Given the description of an element on the screen output the (x, y) to click on. 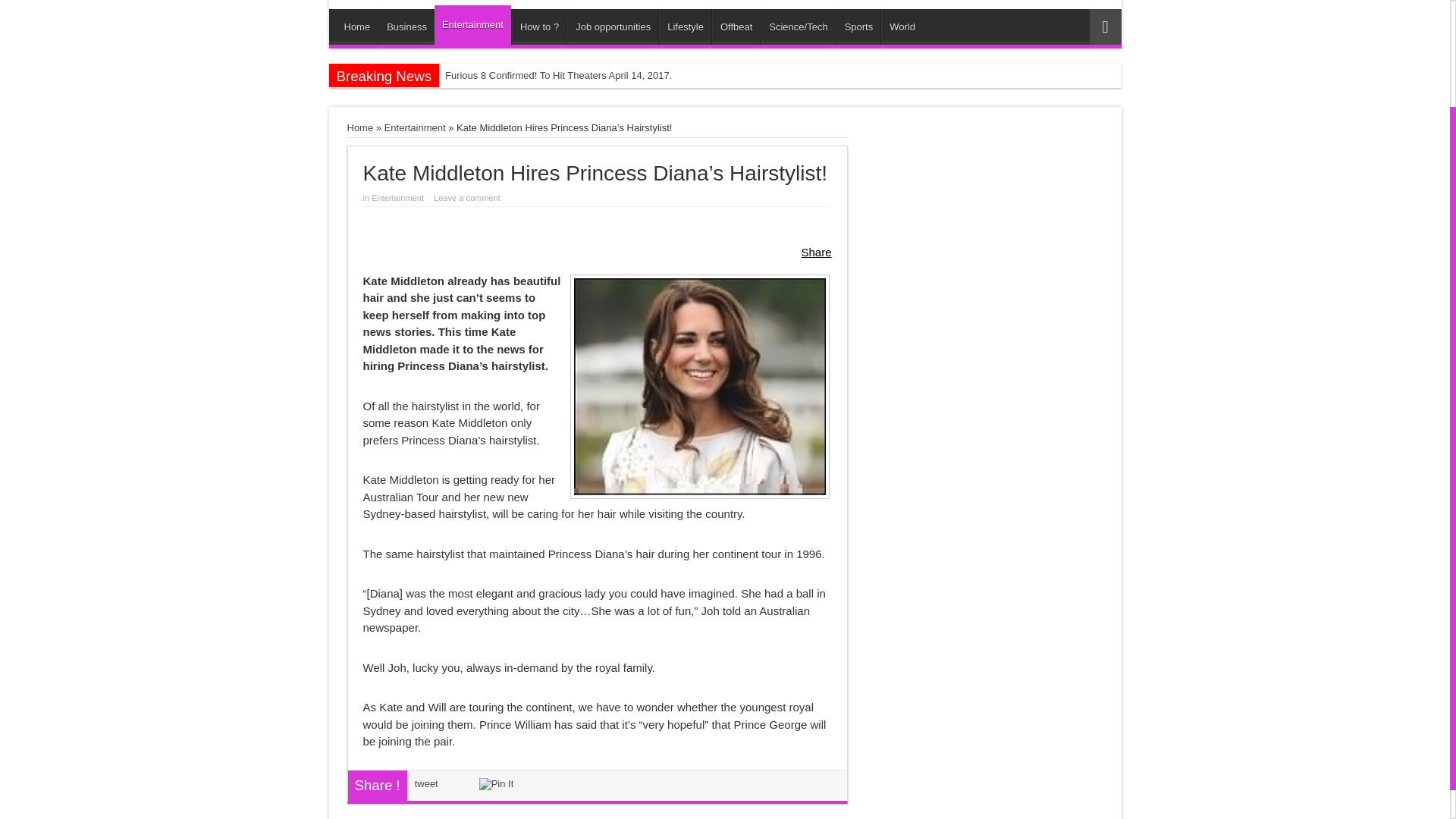
Kawhi Leonard Named NBA Defensive Player of the Year 2015-16 (593, 98)
Offbeat (735, 27)
Entertainment (414, 127)
Pin It (496, 783)
Business (405, 27)
Random Article (1105, 27)
World (901, 27)
Furious 8 Confirmed! To Hit Theaters April 14, 2017. (593, 74)
Kawhi Leonard Named NBA Defensive Player of the Year 2015-16 (593, 98)
Entertainment (472, 24)
